Given the description of an element on the screen output the (x, y) to click on. 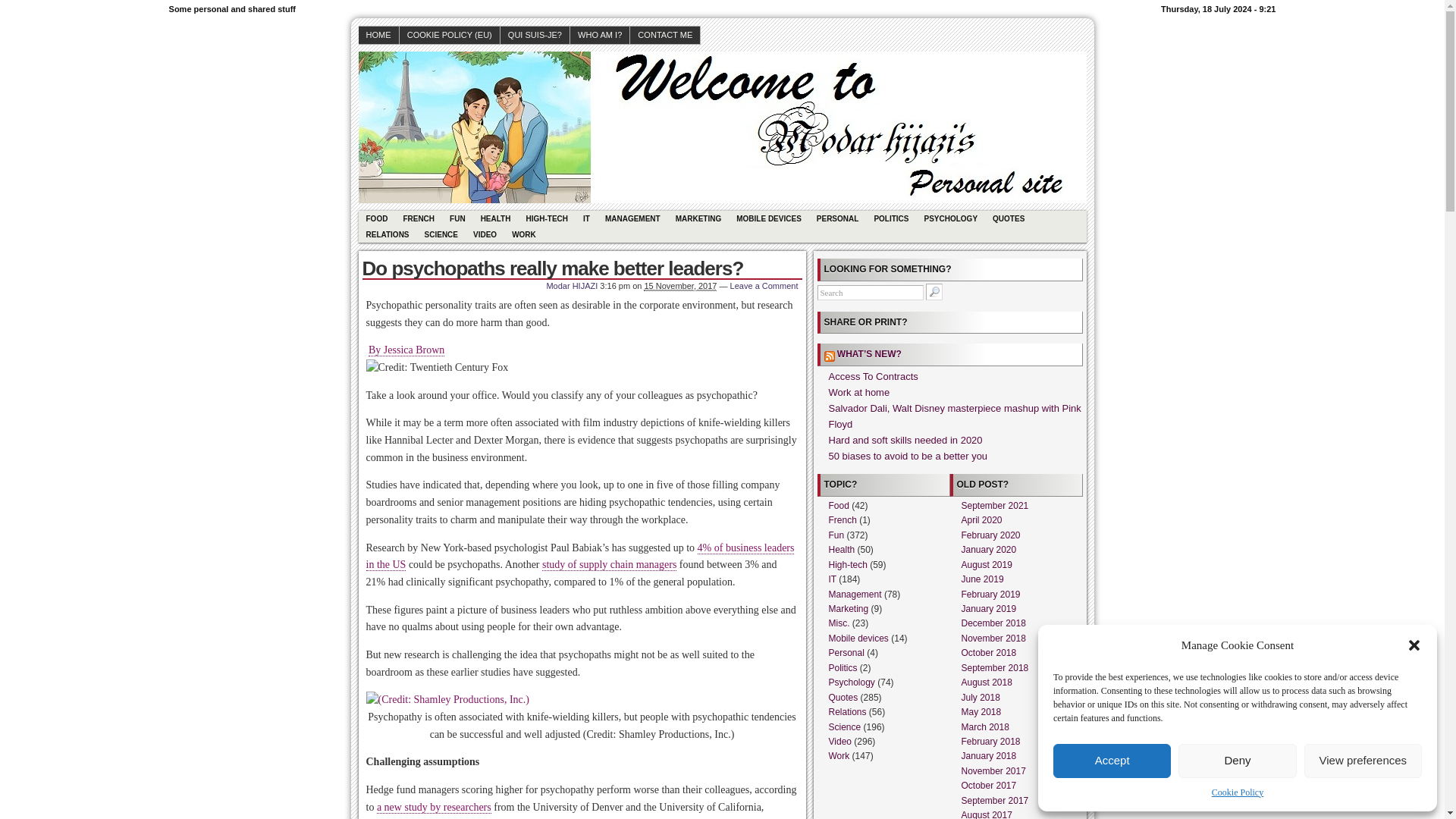
POLITICS (890, 218)
FUN (457, 218)
QUOTES (1008, 218)
HOME (378, 34)
Accept (1111, 760)
FOOD (376, 218)
QUI SUIS-JE? (535, 34)
Cookie Policy (1237, 792)
WHO AM I? (600, 34)
Modar HIJAZI (571, 285)
FRENCH (418, 218)
MANAGEMENT (632, 218)
PERSONAL (837, 218)
HEALTH (495, 218)
By Jessica Brown (406, 349)
